Given the description of an element on the screen output the (x, y) to click on. 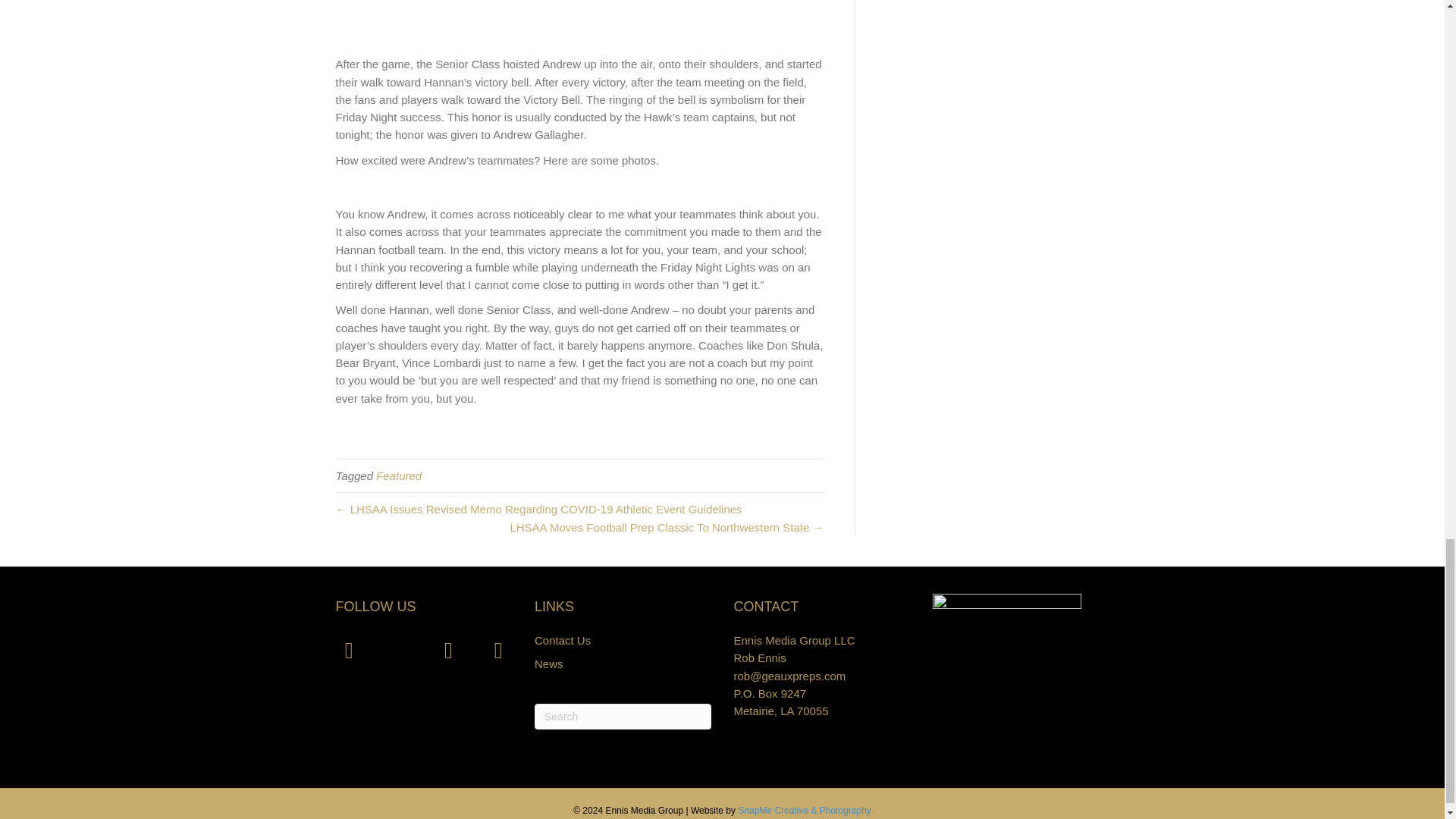
Featured (398, 475)
News (548, 663)
Type and press Enter to search. (622, 716)
Contact Us (562, 640)
